Given the description of an element on the screen output the (x, y) to click on. 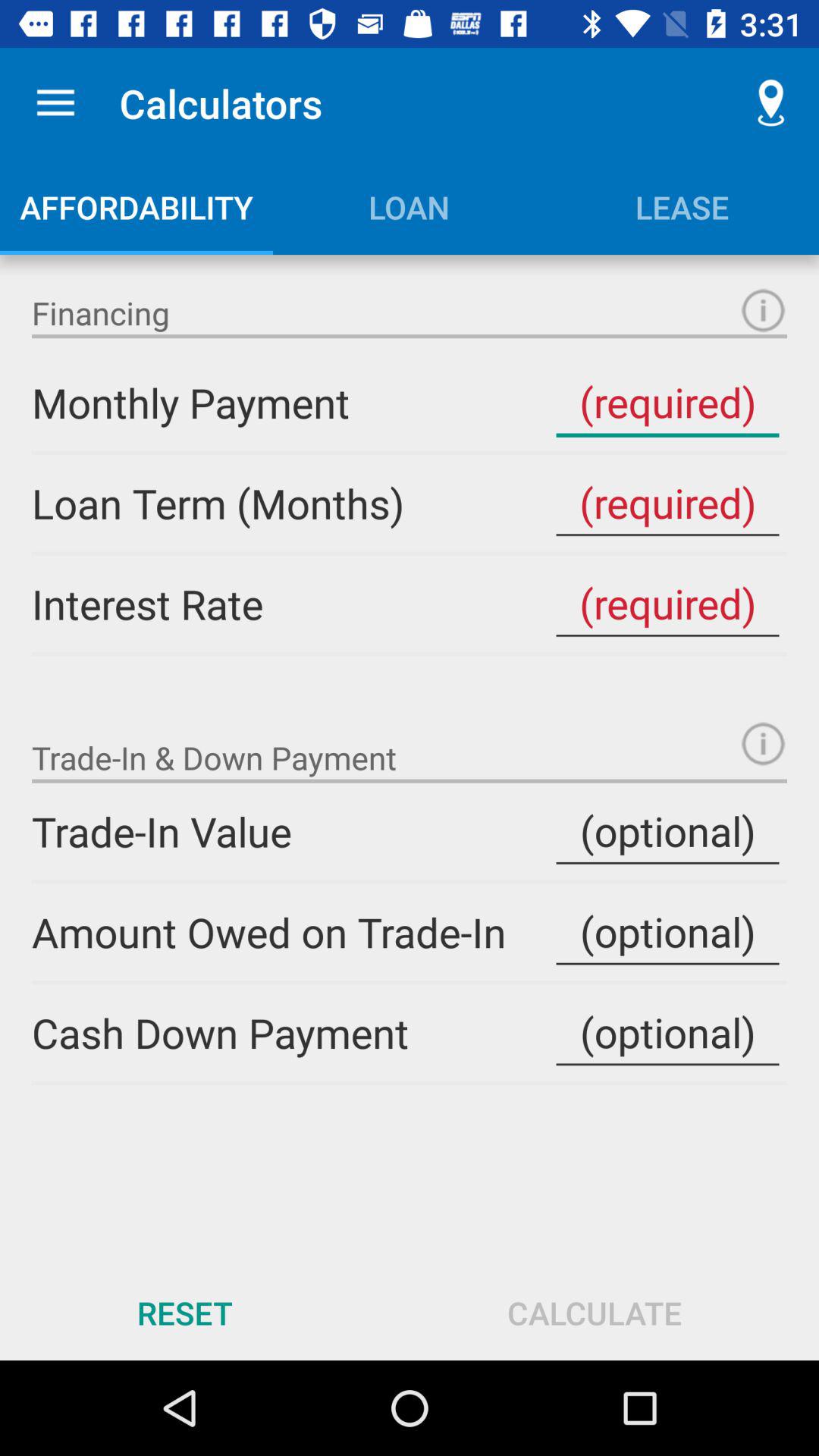
enter cash down payment (667, 1032)
